Given the description of an element on the screen output the (x, y) to click on. 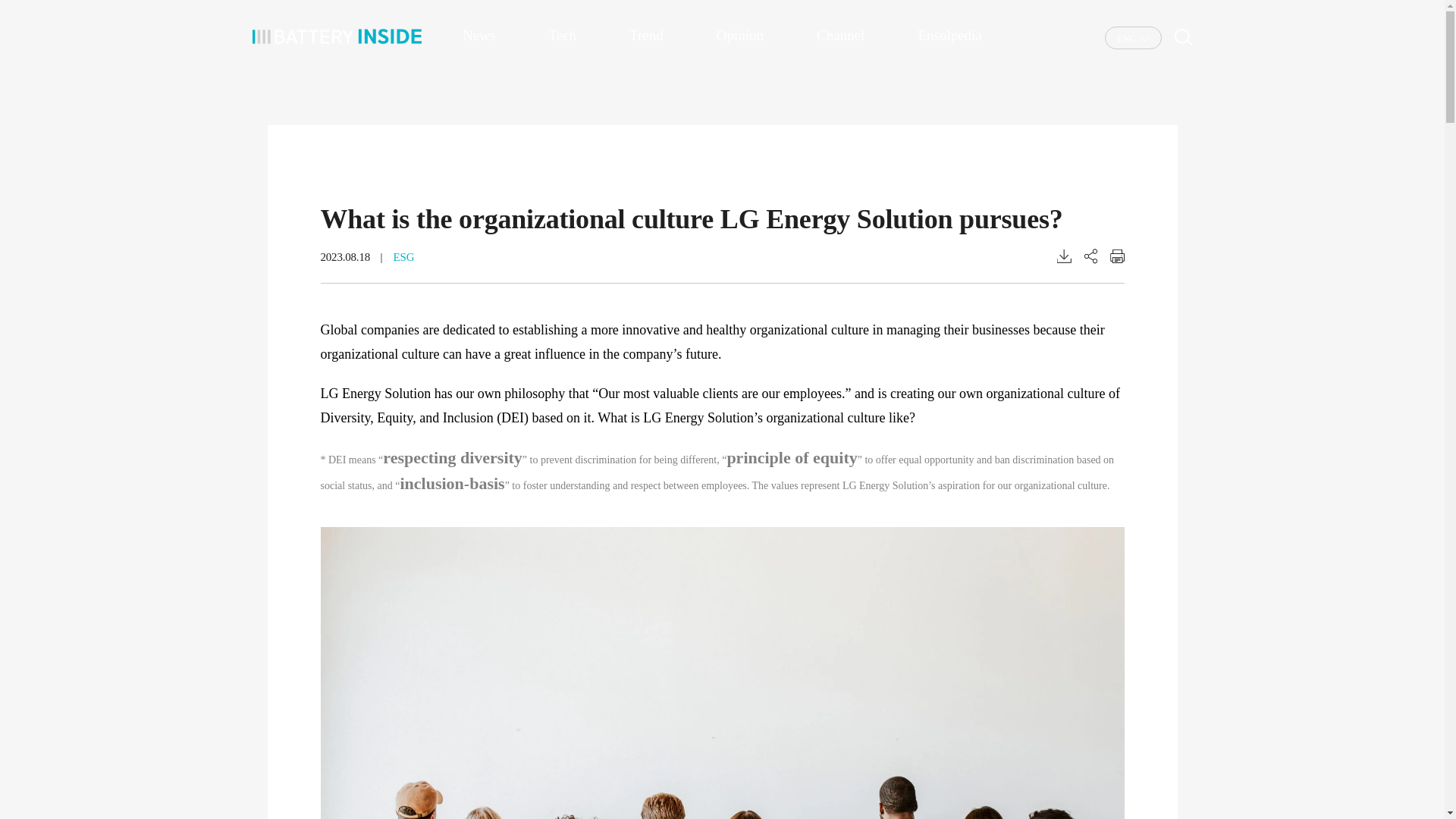
Ensolpedia (949, 35)
ENG (1132, 38)
